Given the description of an element on the screen output the (x, y) to click on. 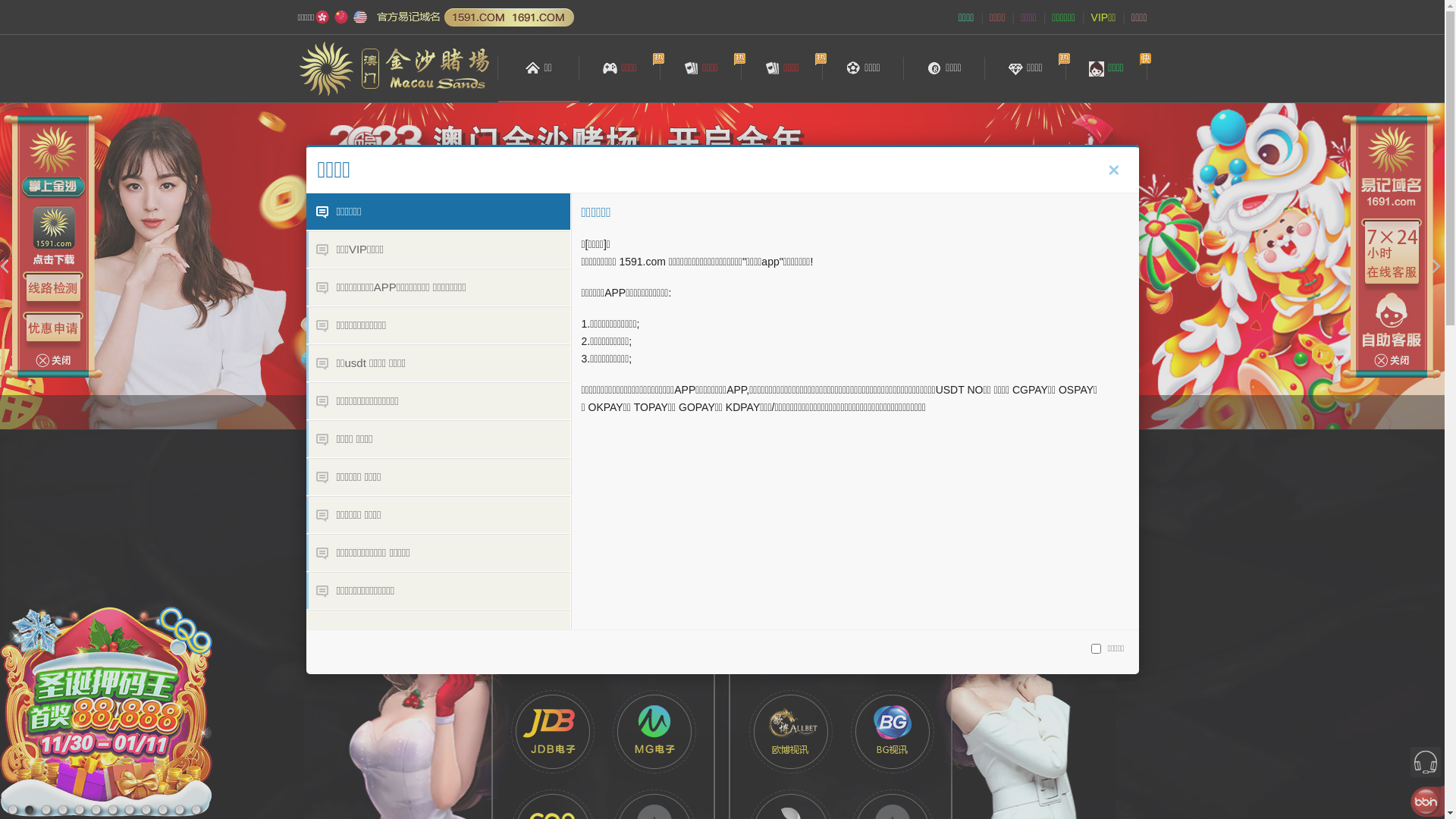
  Element type: text (1000, 316)
English Element type: hover (359, 17)
